Given the description of an element on the screen output the (x, y) to click on. 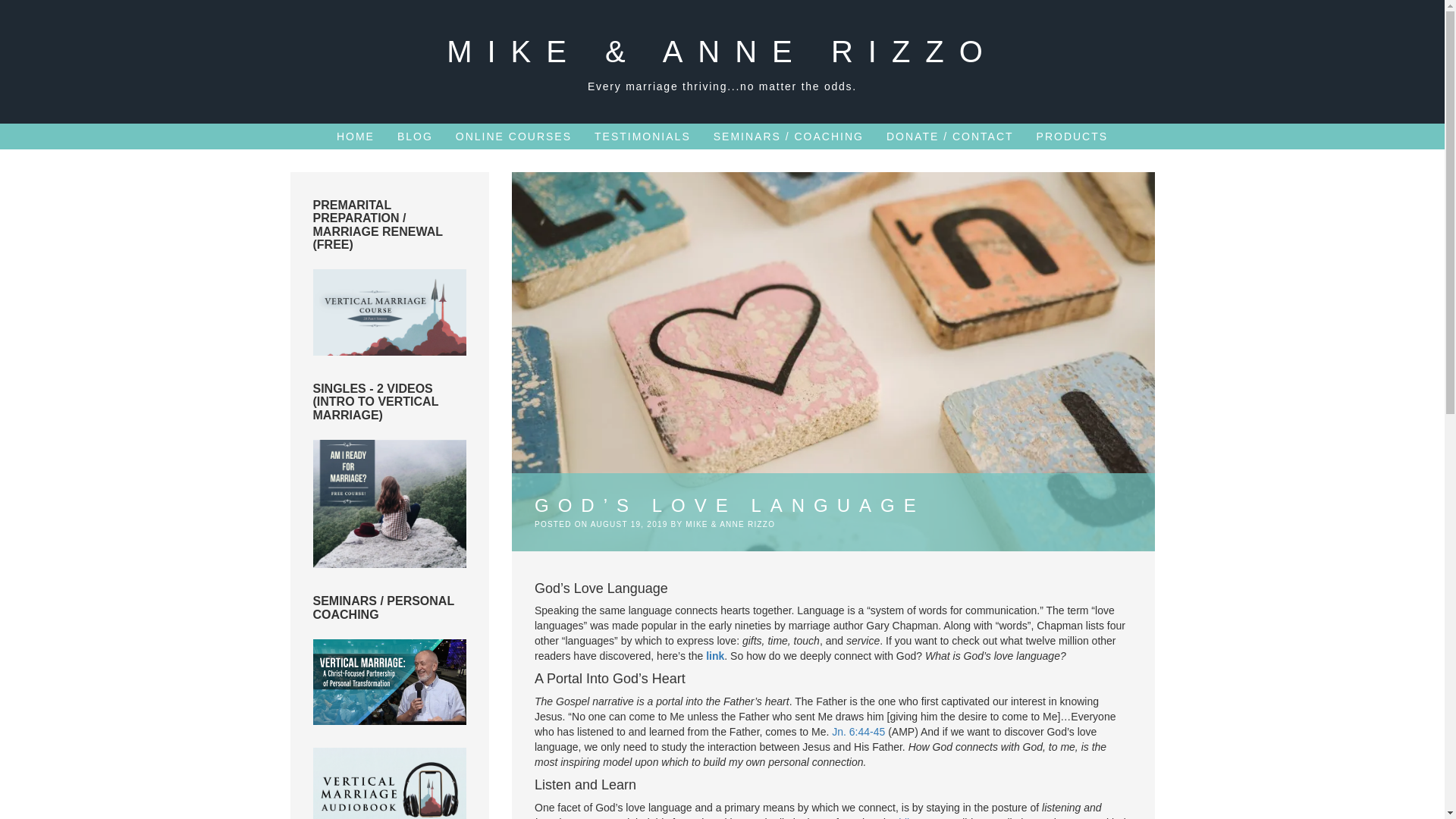
Vertical Marriage Seminars (389, 682)
HOME (355, 136)
Phil. 2:6-7 (915, 817)
VIDEO CHANNEL (389, 312)
link (714, 655)
HOME (355, 136)
BLOG (414, 136)
TESTIMONIALS (642, 136)
Jn. 6:44-45 (858, 731)
ONLINE COURSES (513, 136)
PRODUCTS (1072, 136)
AUGUST 19, 2019 (629, 524)
